Given the description of an element on the screen output the (x, y) to click on. 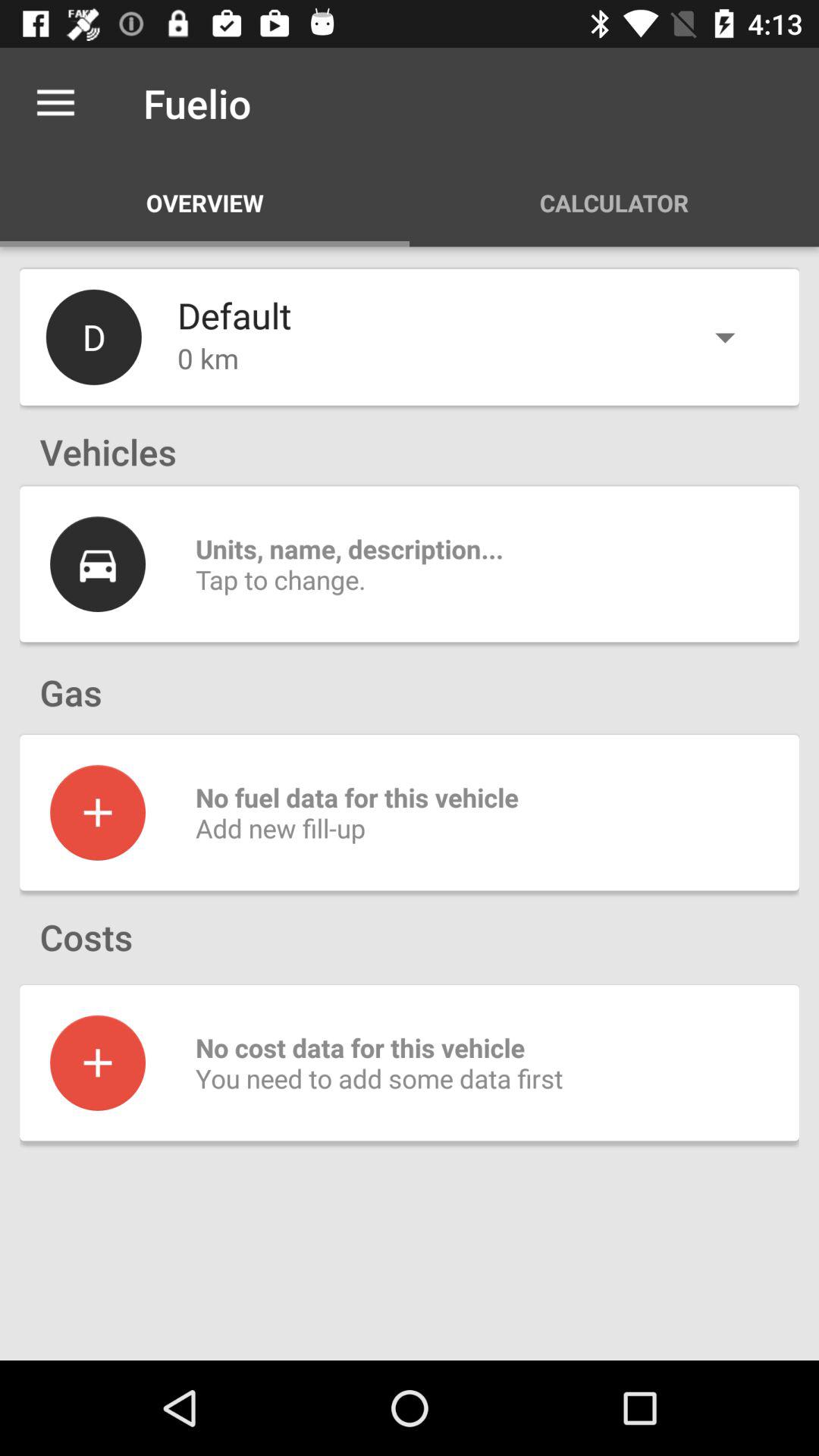
move left to units (97, 563)
click on the icon below gas (97, 812)
click on plus symbol below the costs (97, 1062)
